Given the description of an element on the screen output the (x, y) to click on. 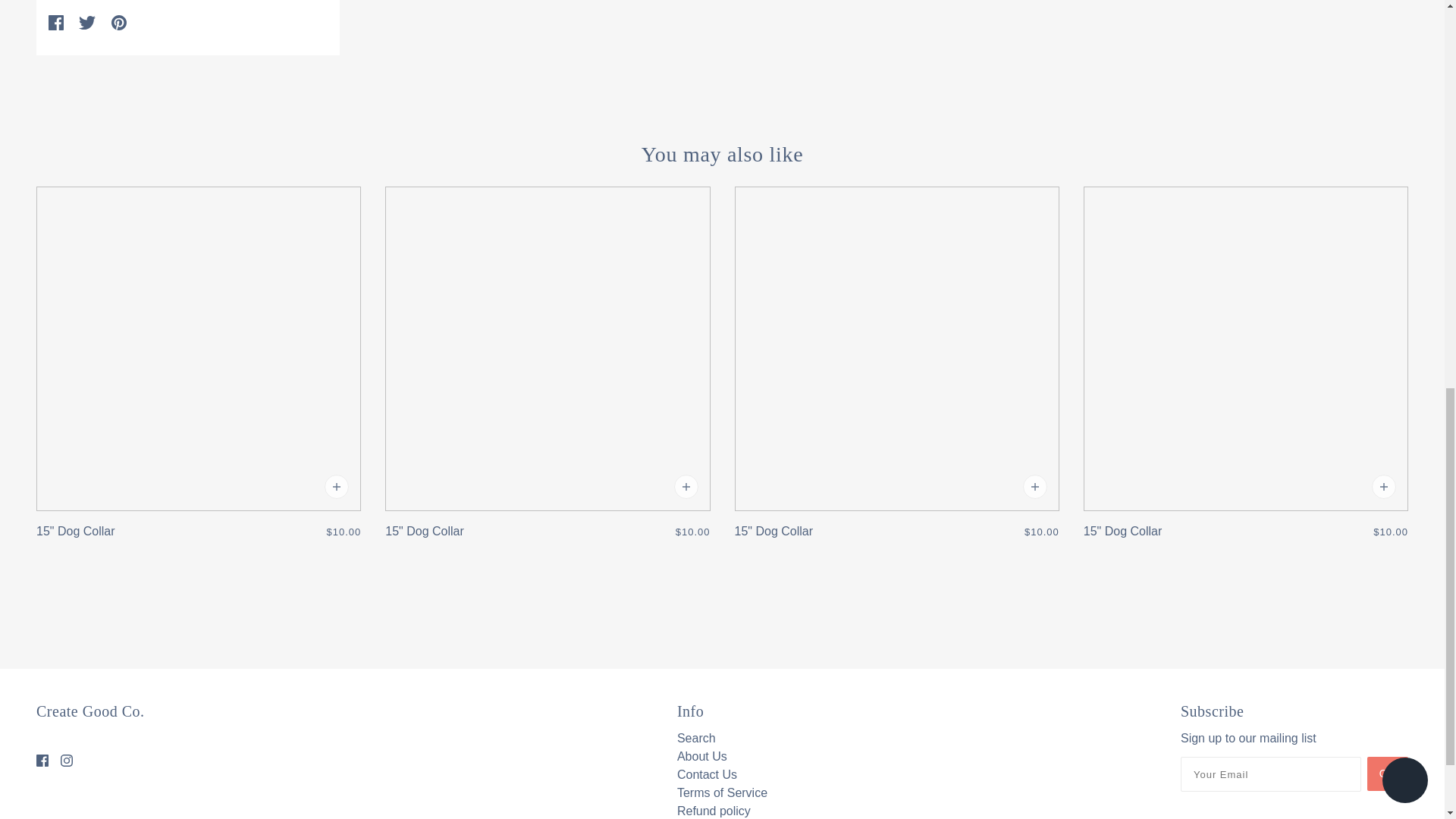
Refund policy (714, 810)
Terms of Service (722, 792)
About Us (701, 756)
Contact Us (706, 774)
Search (696, 738)
